Given the description of an element on the screen output the (x, y) to click on. 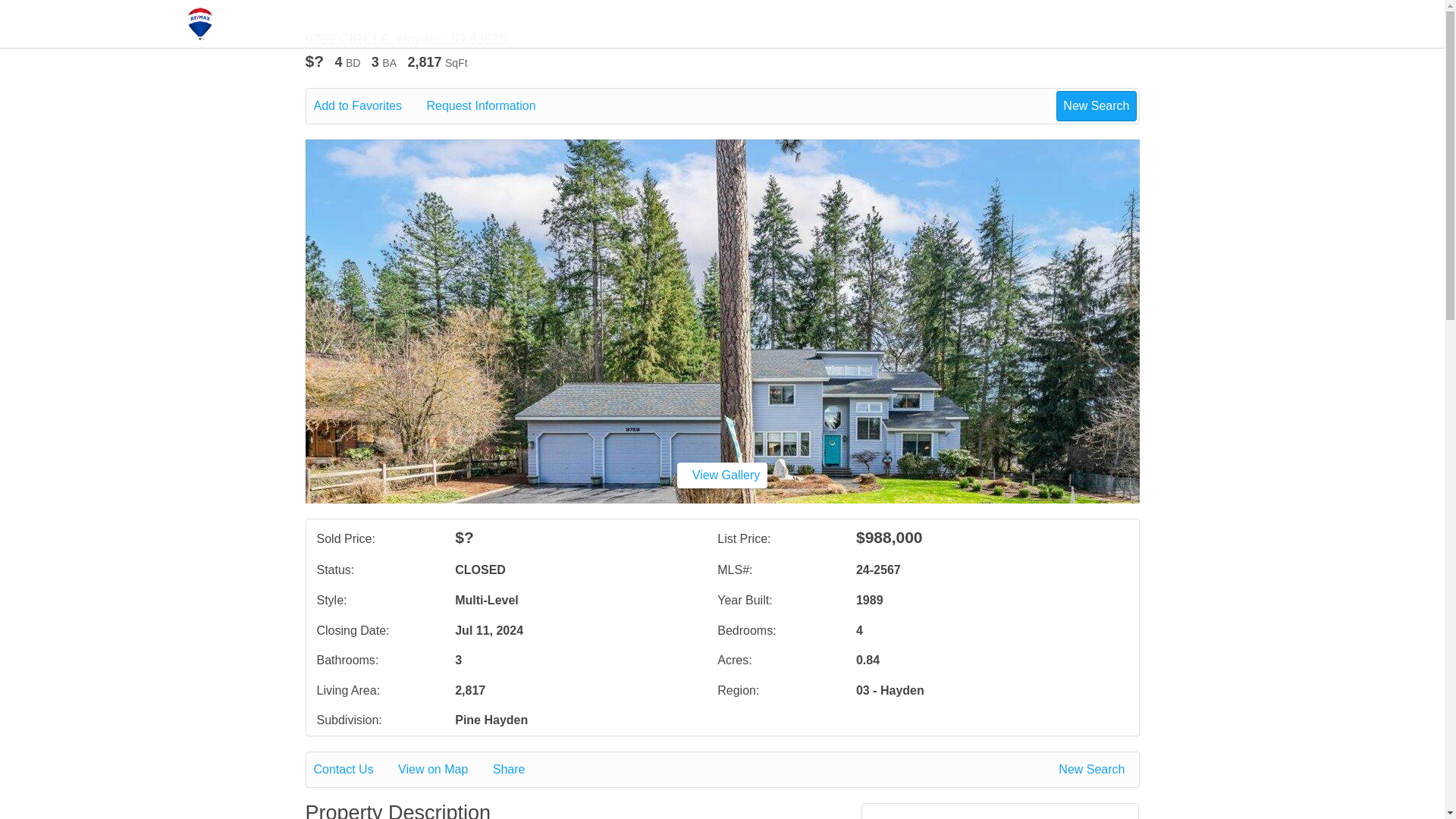
New Search (1094, 769)
New Search (1096, 105)
Add to Favorites (368, 106)
View Gallery (722, 475)
Share (520, 769)
View on Map (443, 769)
Request Information (491, 106)
Contact Us (354, 769)
View Gallery (722, 474)
